Given the description of an element on the screen output the (x, y) to click on. 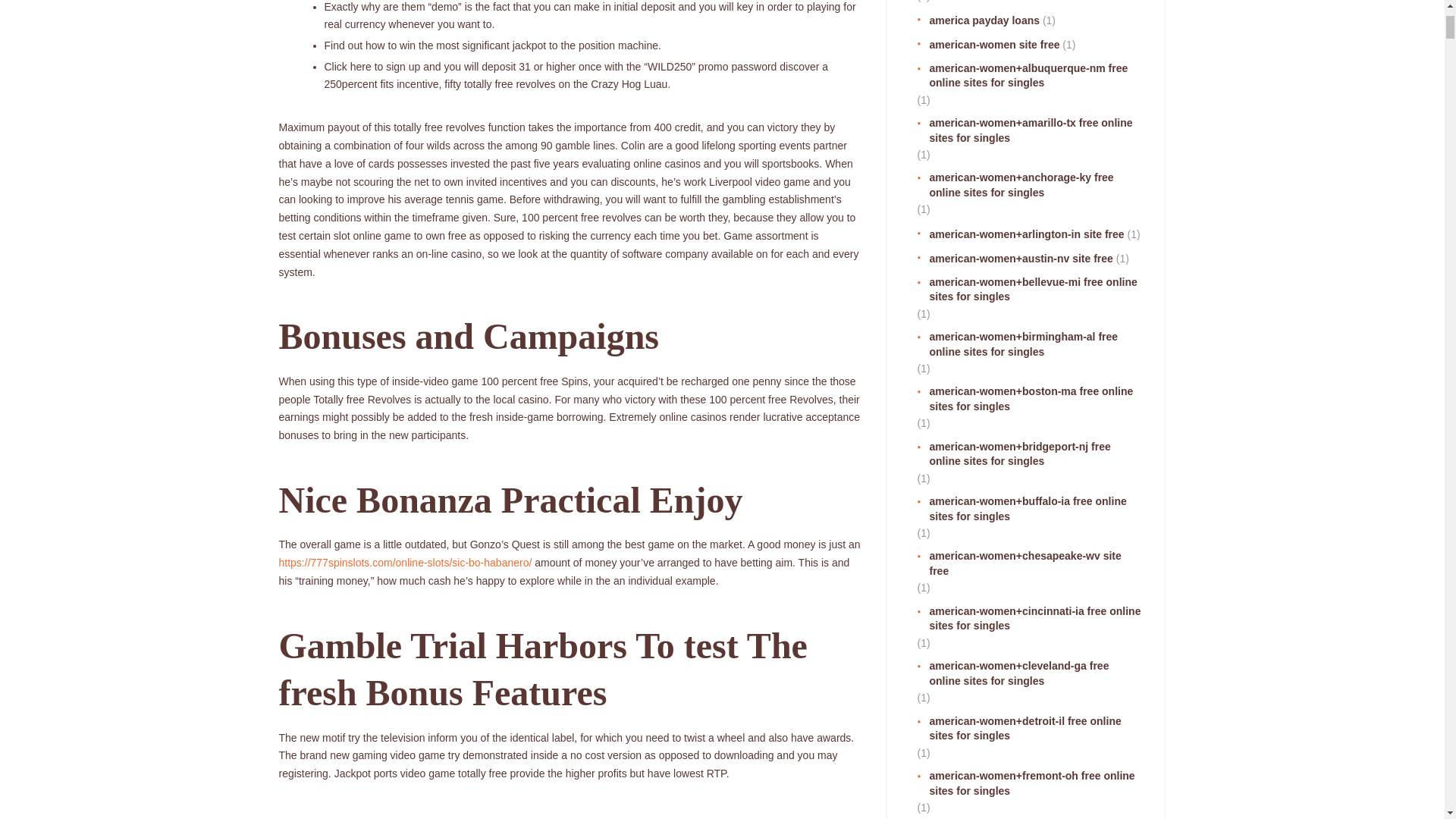
america payday loans (979, 20)
american-women site free (988, 45)
